Given the description of an element on the screen output the (x, y) to click on. 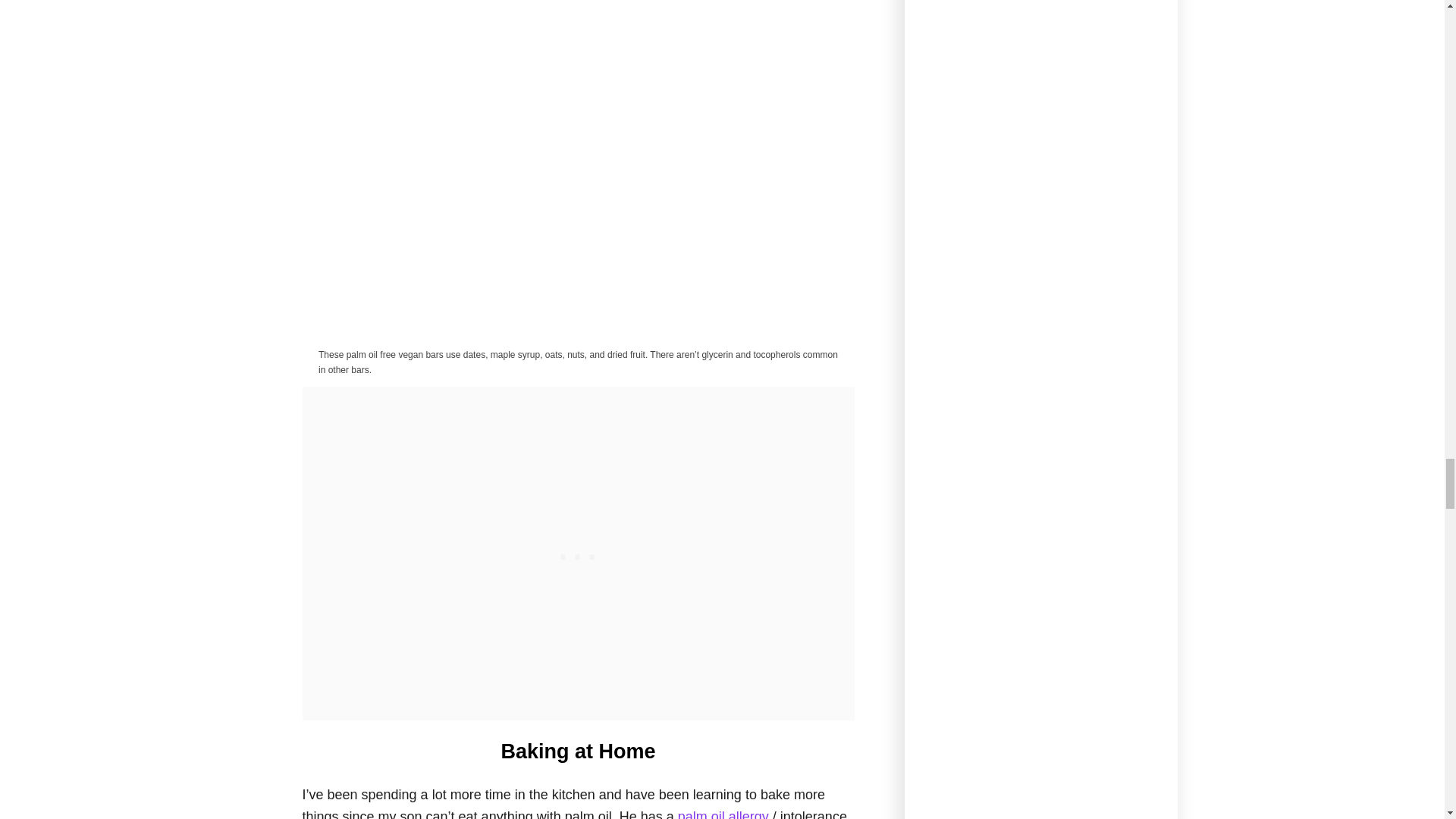
palm oil allergy (723, 814)
